Given the description of an element on the screen output the (x, y) to click on. 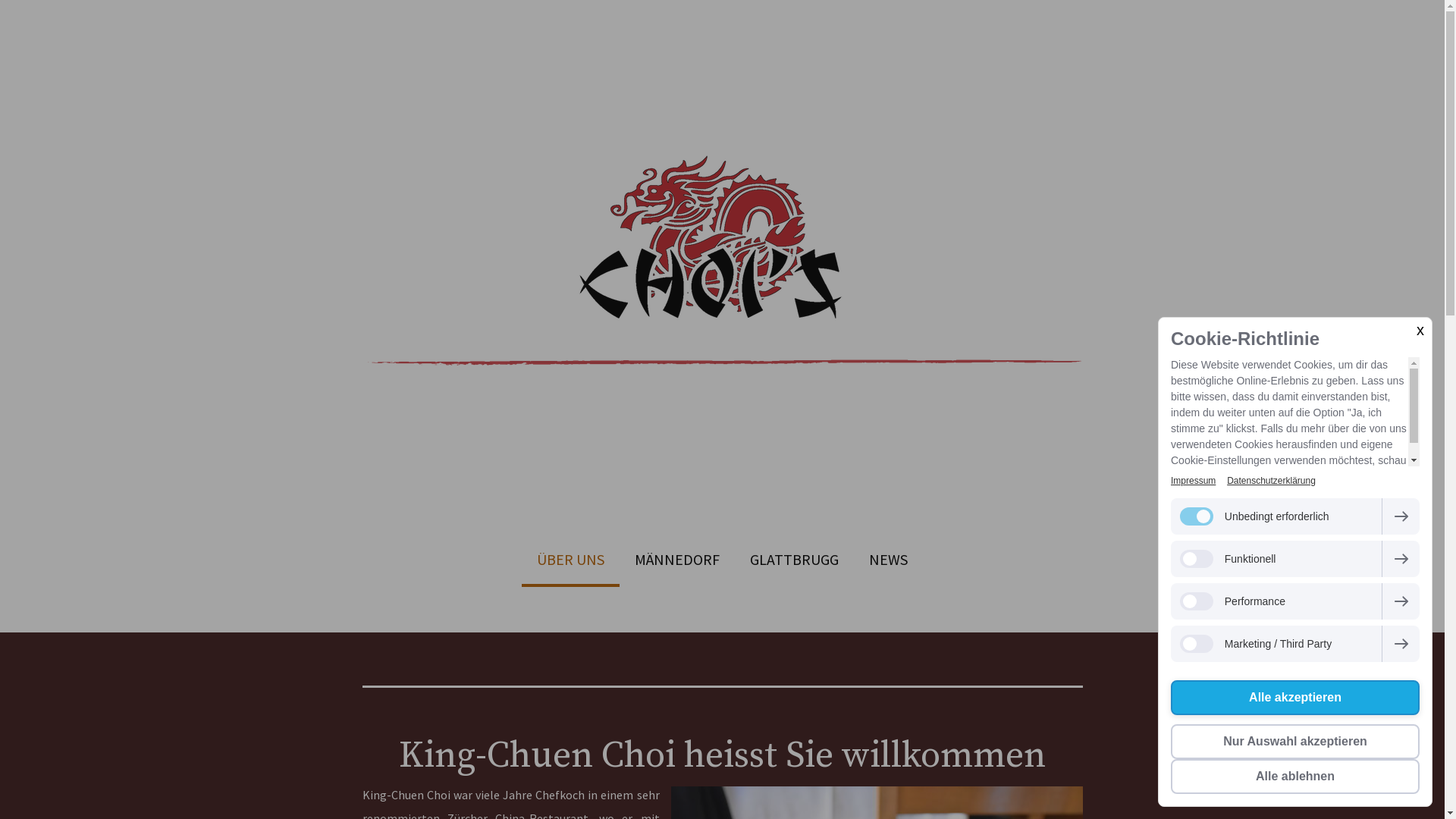
Alle akzeptieren Element type: text (1294, 697)
Impressum Element type: text (1192, 480)
NEWS Element type: text (887, 560)
Nur Auswahl akzeptieren Element type: text (1294, 741)
GLATTBRUGG Element type: text (793, 560)
Choi's China Restaurant Element type: text (722, 421)
Alle ablehnen Element type: text (1294, 776)
